Given the description of an element on the screen output the (x, y) to click on. 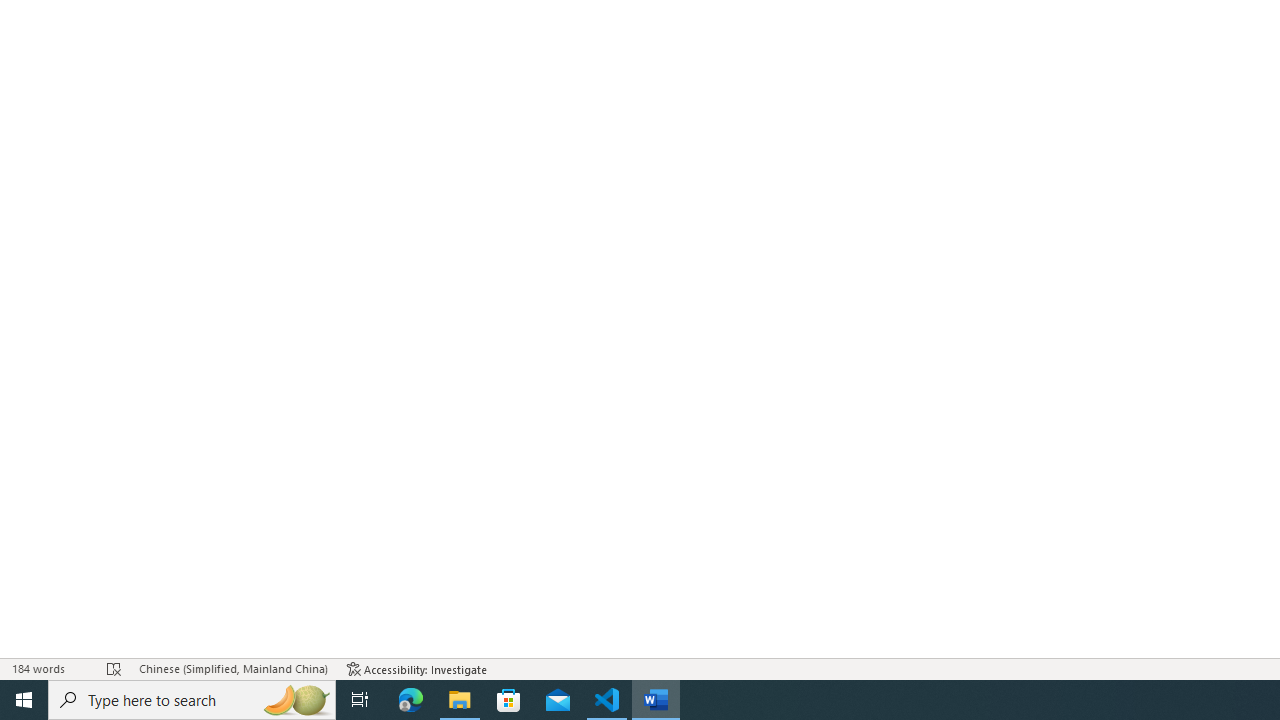
Accessibility Checker Accessibility: Investigate (417, 668)
Language Chinese (Simplified, Mainland China) (232, 668)
Spelling and Grammar Check Errors (114, 668)
Word Count 184 words (49, 668)
